Given the description of an element on the screen output the (x, y) to click on. 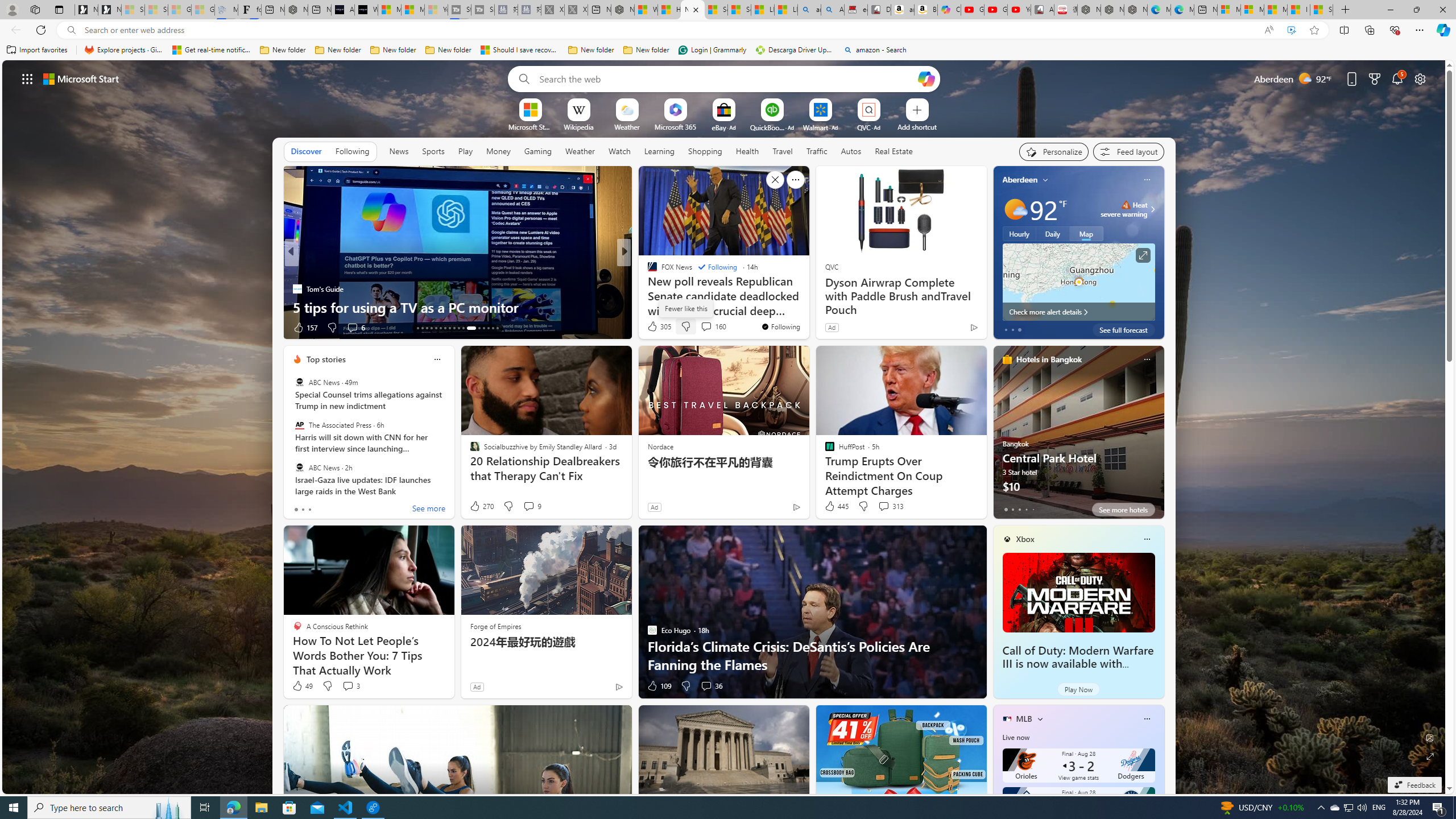
Huge shark washes ashore at New York City beach | Watch (668, 9)
49 Like (301, 685)
Settings and more (Alt+F) (1419, 29)
Following (352, 151)
Enter your search term (726, 78)
Class: icon-img (1146, 718)
Shopping (705, 151)
Split screen (1344, 29)
AutomationID: tab-15 (426, 328)
Browser essentials (1394, 29)
Mostly sunny (1014, 208)
All Cubot phones (1042, 9)
View comments 48 Comment (6, 327)
